Given the description of an element on the screen output the (x, y) to click on. 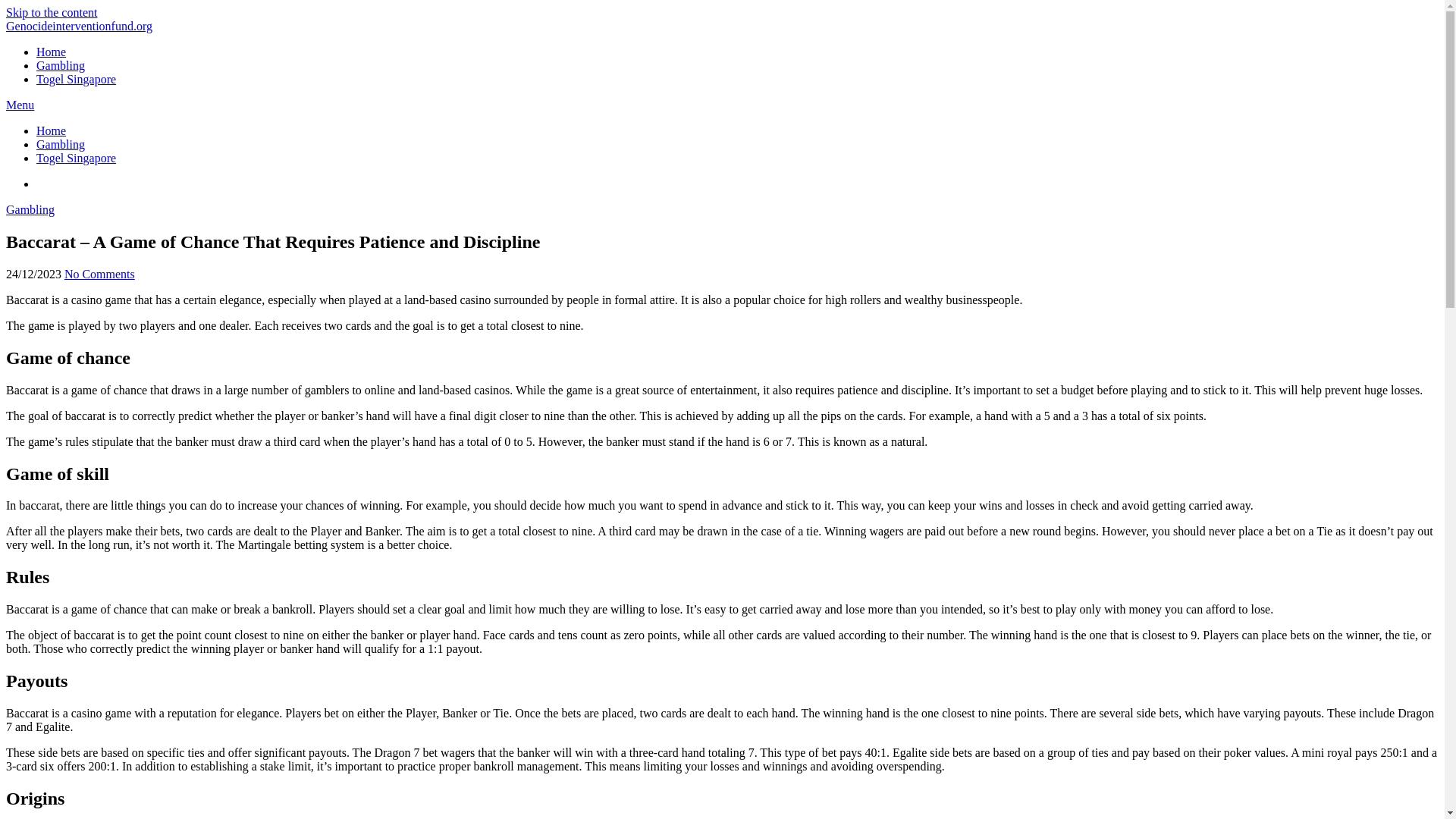
Skip to the content (51, 11)
Home (50, 130)
Menu (19, 104)
Genocideinterventionfund.org (78, 25)
Gambling (60, 65)
Gambling (30, 209)
Togel Singapore (76, 78)
Togel Singapore (76, 157)
Home (50, 51)
No Comments (99, 273)
